Given the description of an element on the screen output the (x, y) to click on. 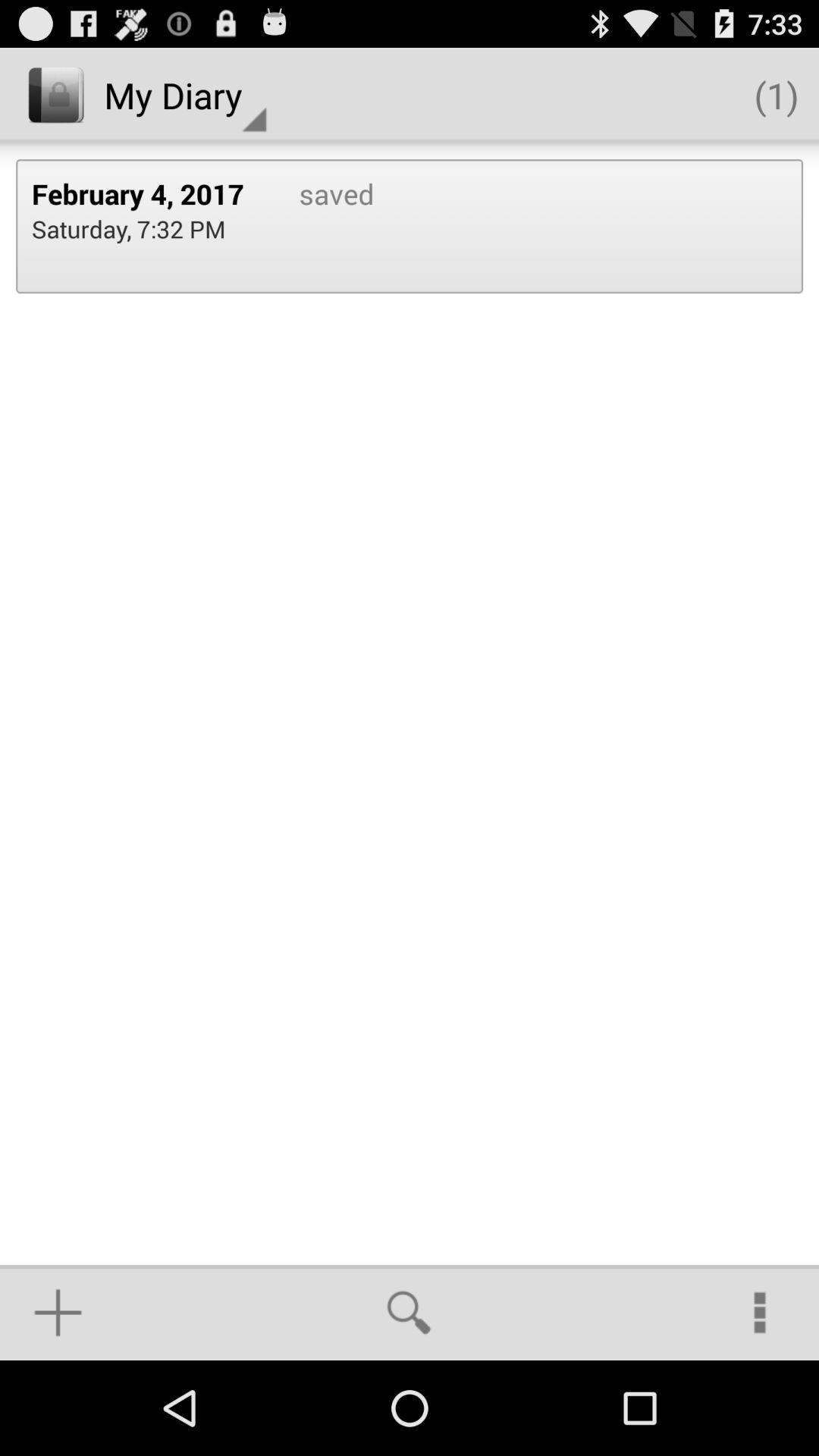
choose item at the bottom right corner (759, 1312)
